Given the description of an element on the screen output the (x, y) to click on. 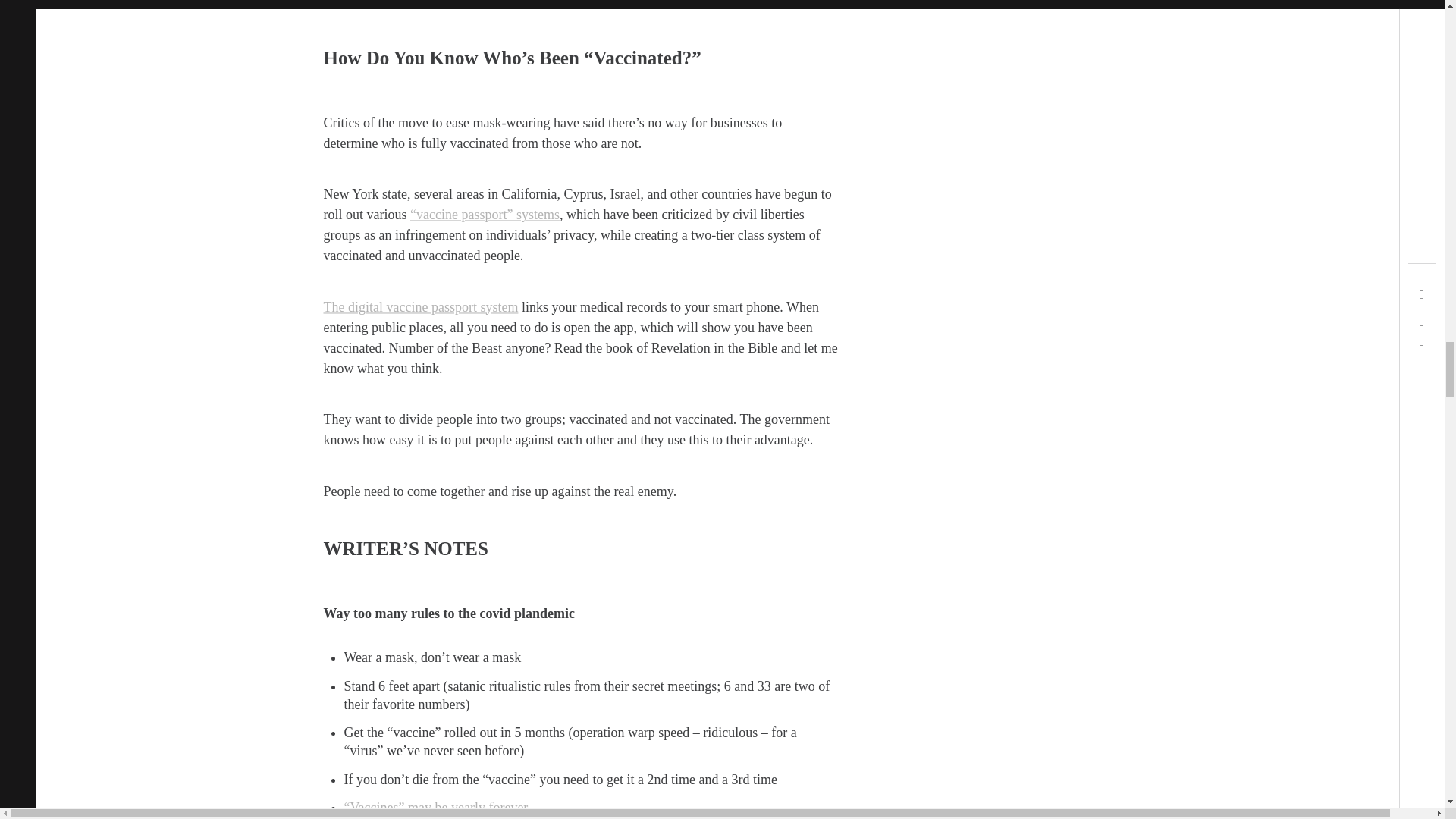
The digital vaccine passport system (420, 306)
